Given the description of an element on the screen output the (x, y) to click on. 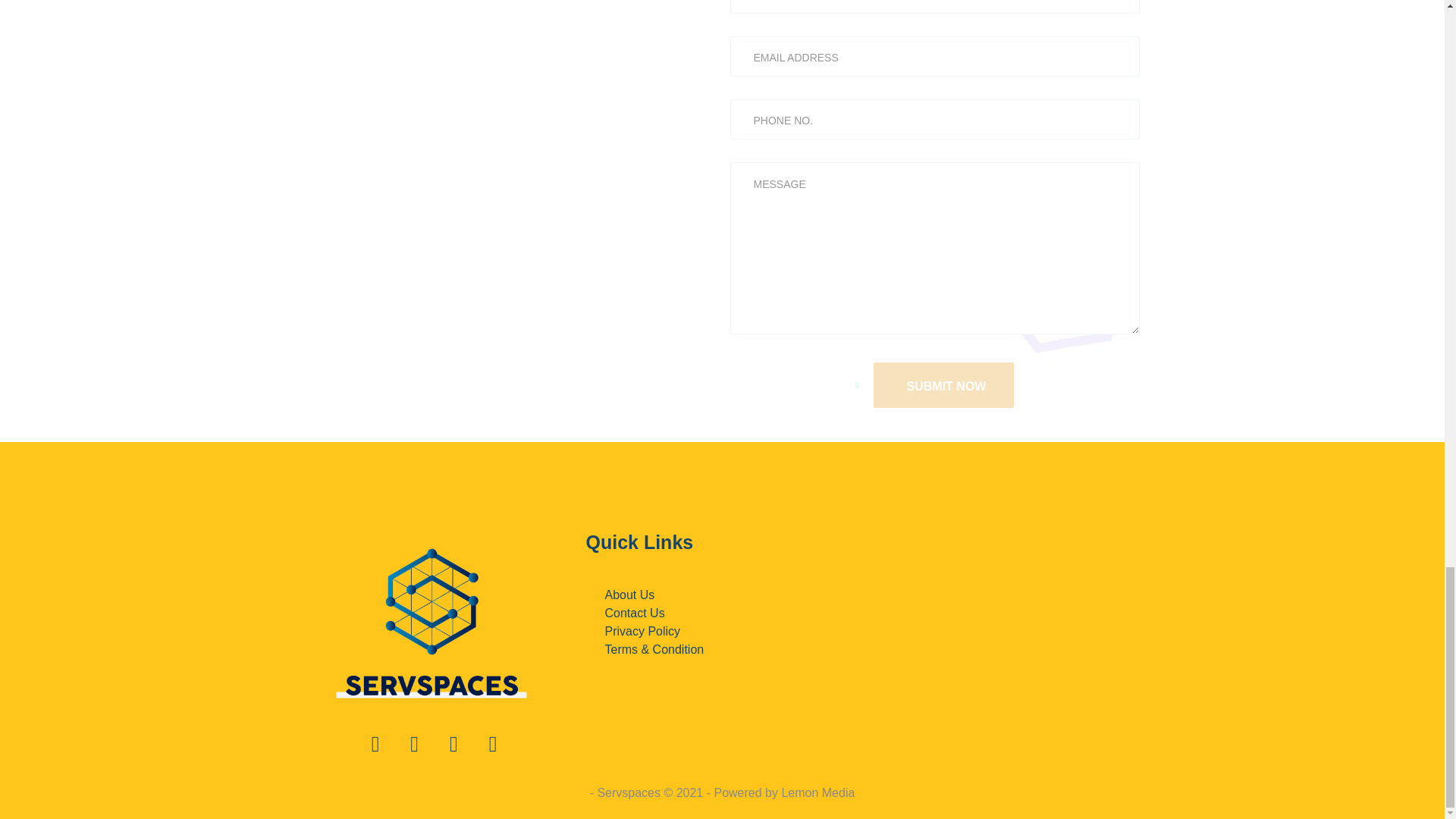
SUBMIT NOW (943, 384)
Contact Us (722, 613)
Privacy Policy (722, 631)
About Us (722, 595)
GM IT PARK 32-33, Sector 142, Noida, Uttar Pradesh 201305 (1010, 646)
